Given the description of an element on the screen output the (x, y) to click on. 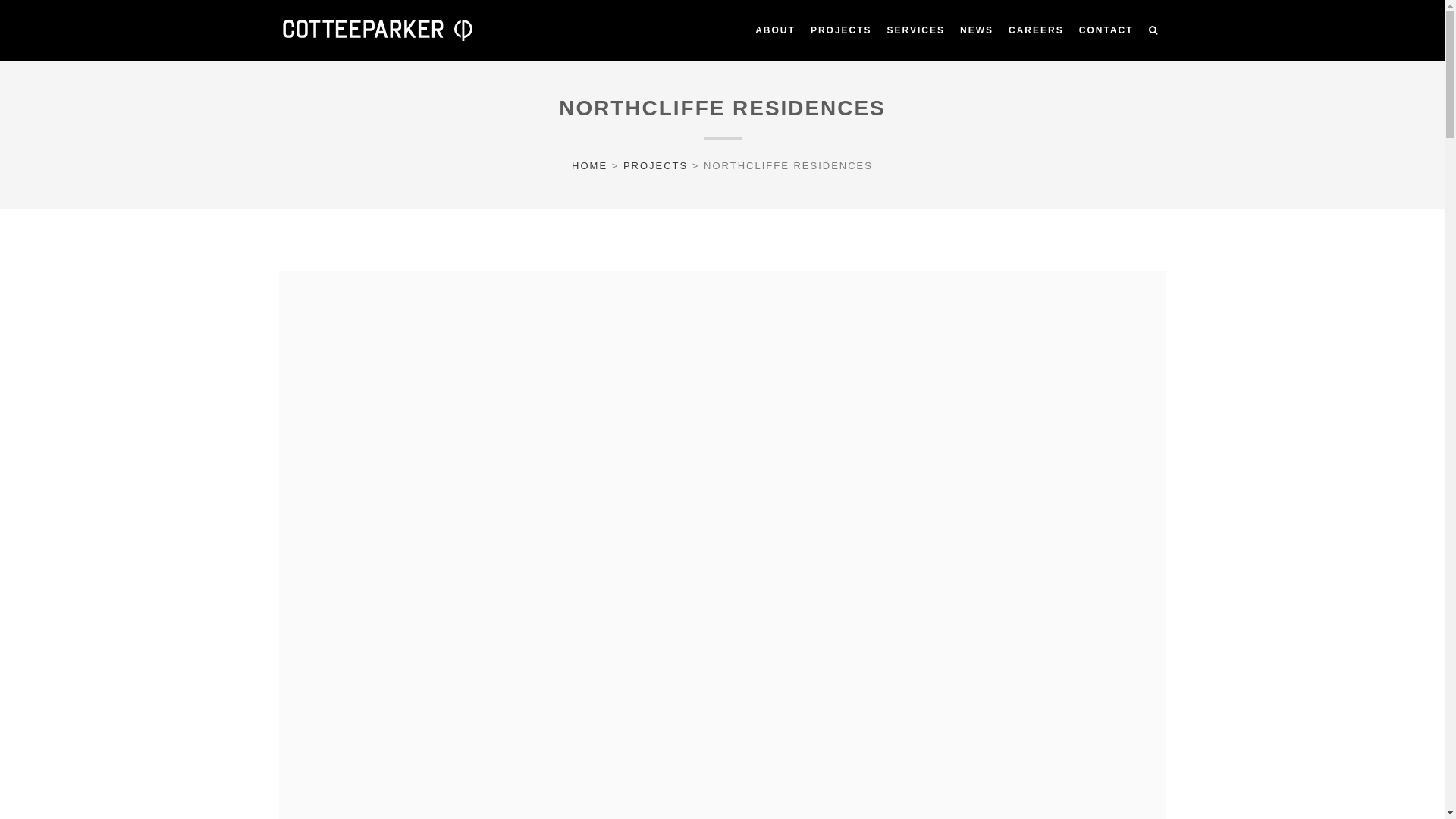
PROJECTS Element type: text (841, 29)
ABOUT Element type: text (775, 29)
CAREERS Element type: text (1036, 29)
SERVICES Element type: text (915, 29)
CONTACT Element type: text (1106, 29)
PROJECTS Element type: text (655, 165)
NEWS Element type: text (976, 29)
HOME Element type: text (589, 165)
